Given the description of an element on the screen output the (x, y) to click on. 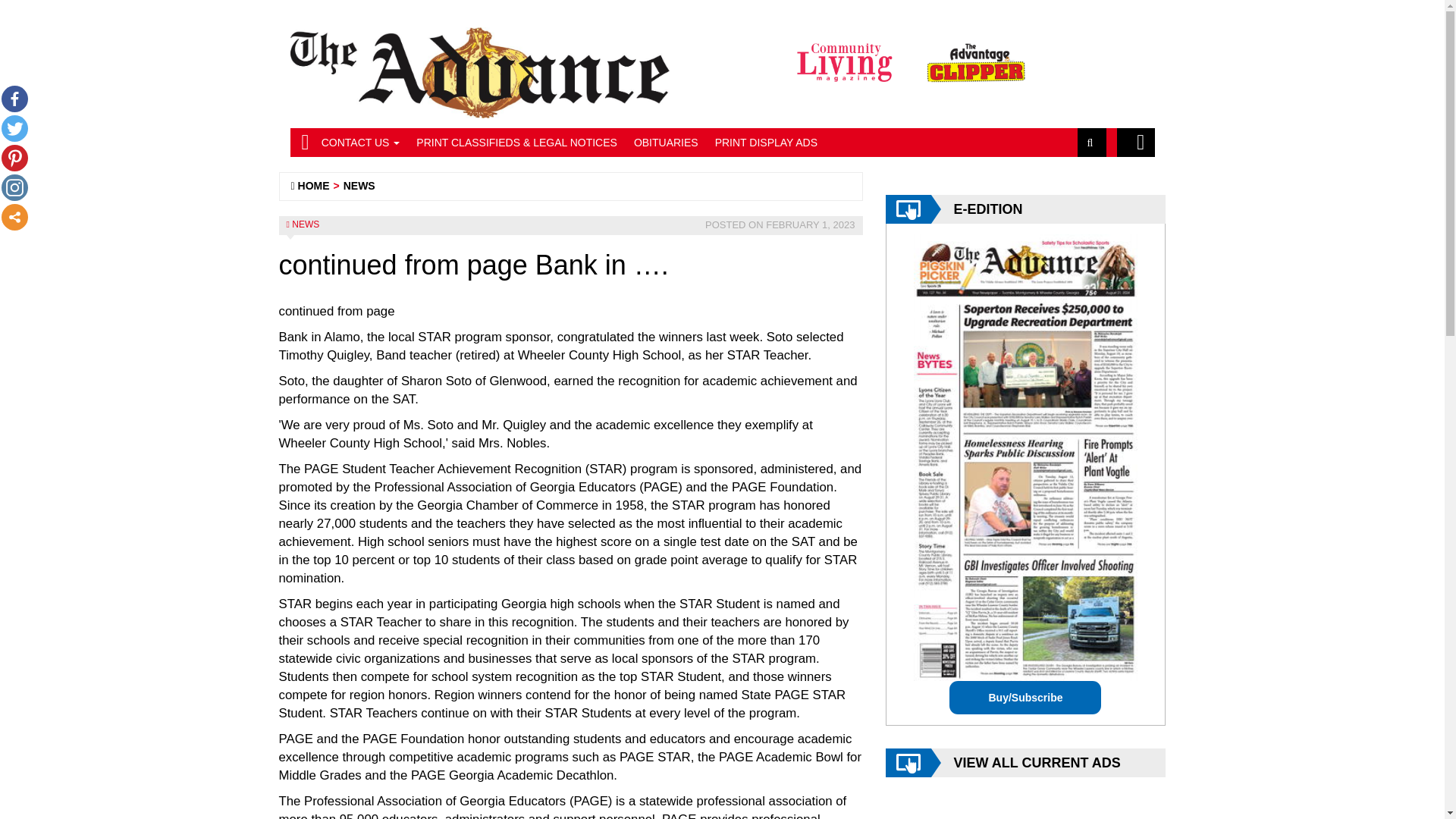
CONTACT US (361, 142)
More (14, 216)
OBITUARIES (666, 142)
Contact Us (361, 142)
NEWS (305, 224)
ALL SECTIONS (1135, 142)
Print Display Ads (765, 142)
OBITUARIES (666, 142)
Twitter (14, 128)
Facebook (14, 98)
